Given the description of an element on the screen output the (x, y) to click on. 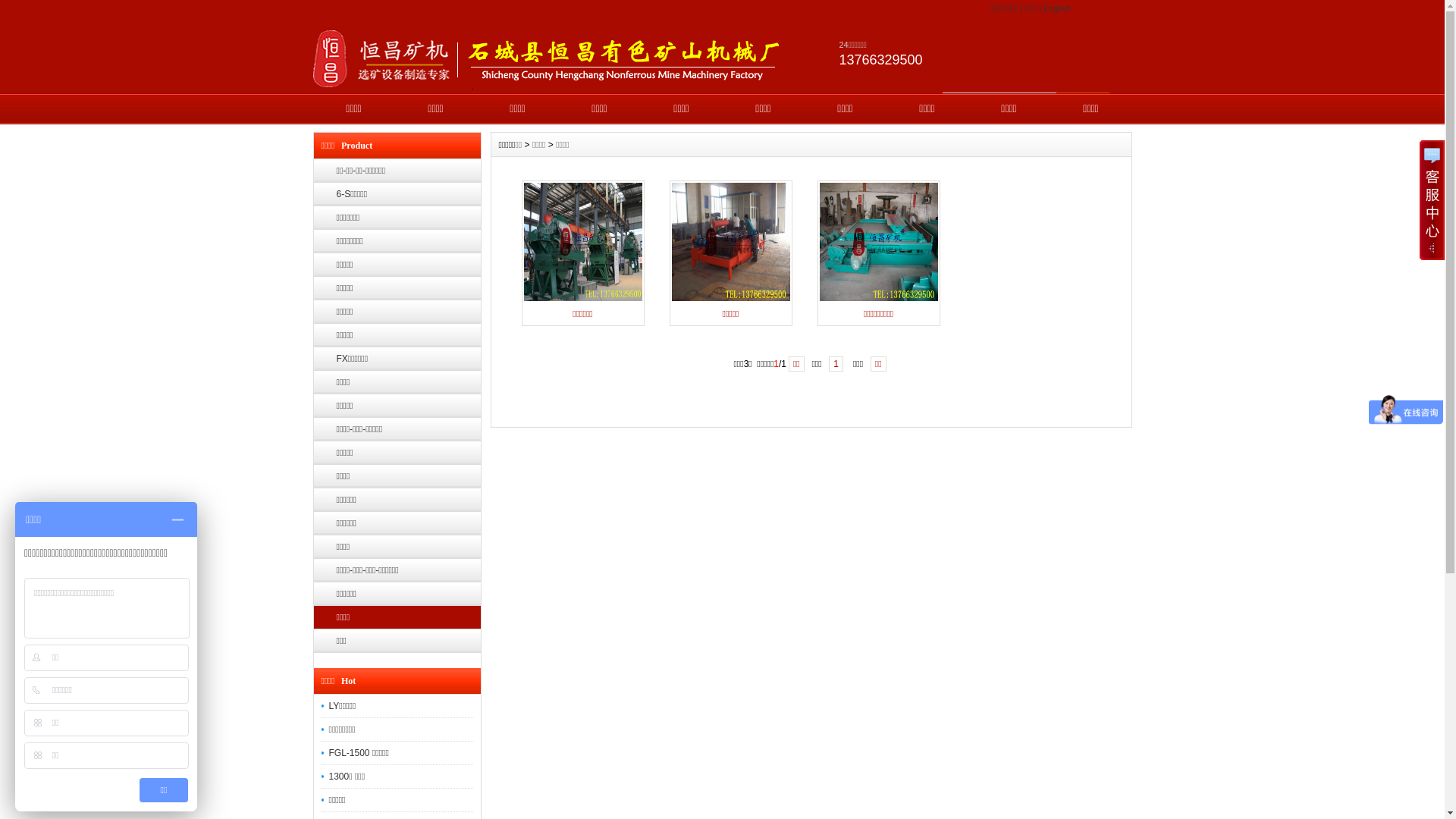
English Element type: text (1056, 7)
1 Element type: text (835, 363)
  Element type: text (1068, 101)
